Given the description of an element on the screen output the (x, y) to click on. 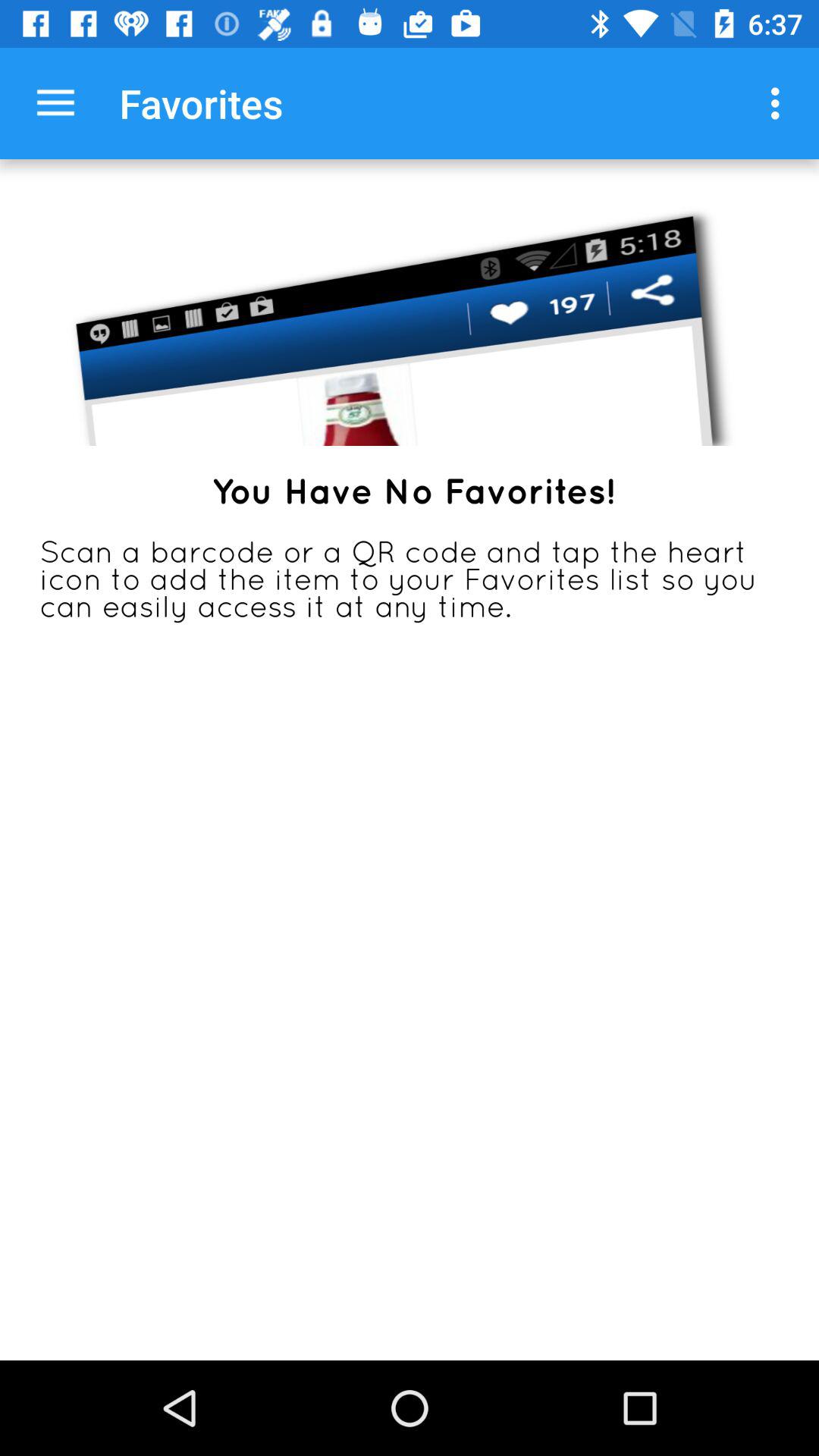
press item at the top right corner (779, 103)
